Given the description of an element on the screen output the (x, y) to click on. 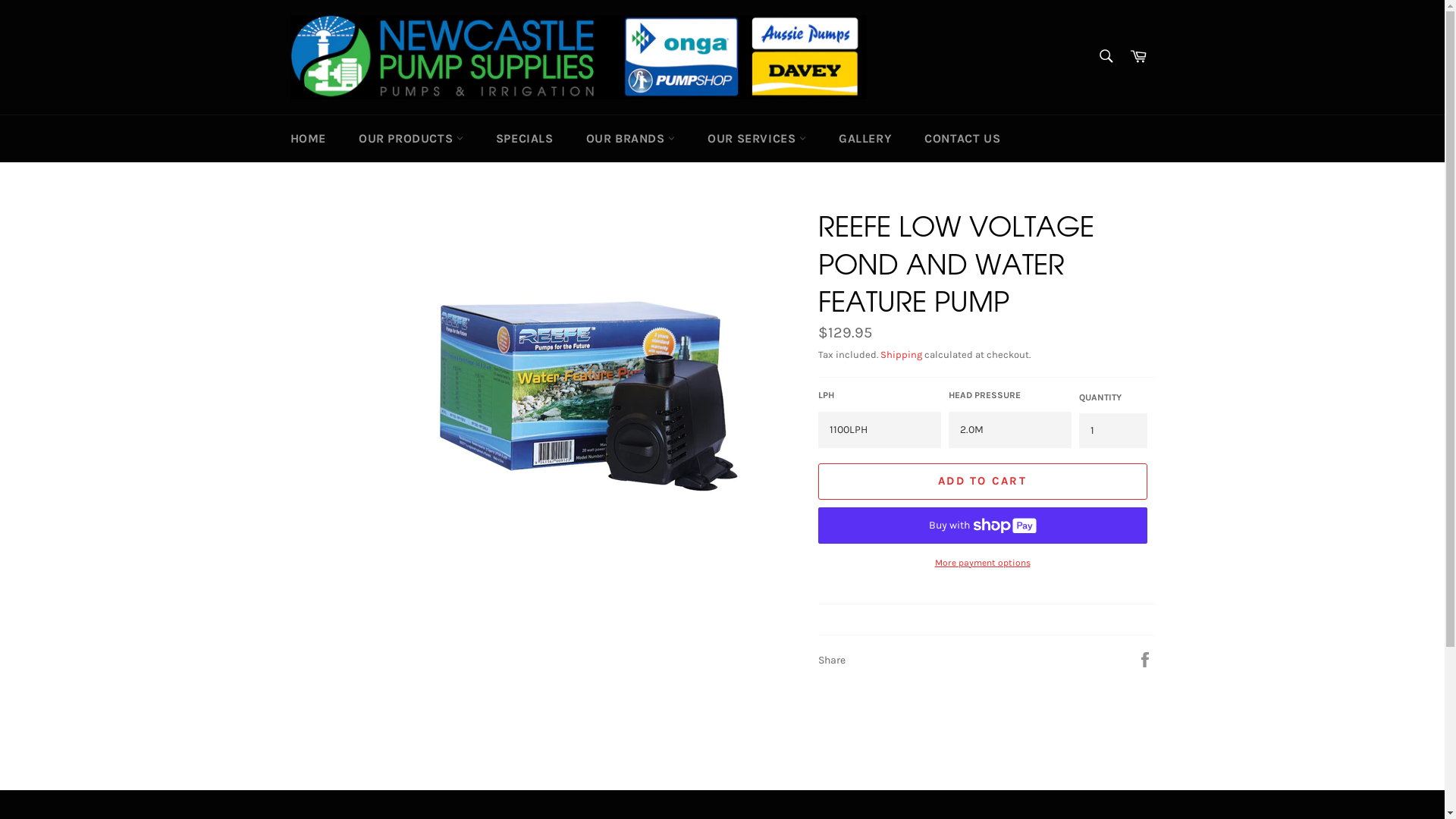
ADD TO CART Element type: text (981, 481)
CONTACT US Element type: text (962, 138)
GALLERY Element type: text (864, 138)
OUR BRANDS Element type: text (630, 138)
OUR SERVICES Element type: text (756, 138)
Search Element type: text (1105, 56)
Share on Facebook Element type: text (1144, 658)
Cart Element type: text (1138, 57)
OUR PRODUCTS Element type: text (410, 138)
HOME Element type: text (307, 138)
More payment options Element type: text (981, 562)
SPECIALS Element type: text (524, 138)
Shipping Element type: text (900, 354)
